Given the description of an element on the screen output the (x, y) to click on. 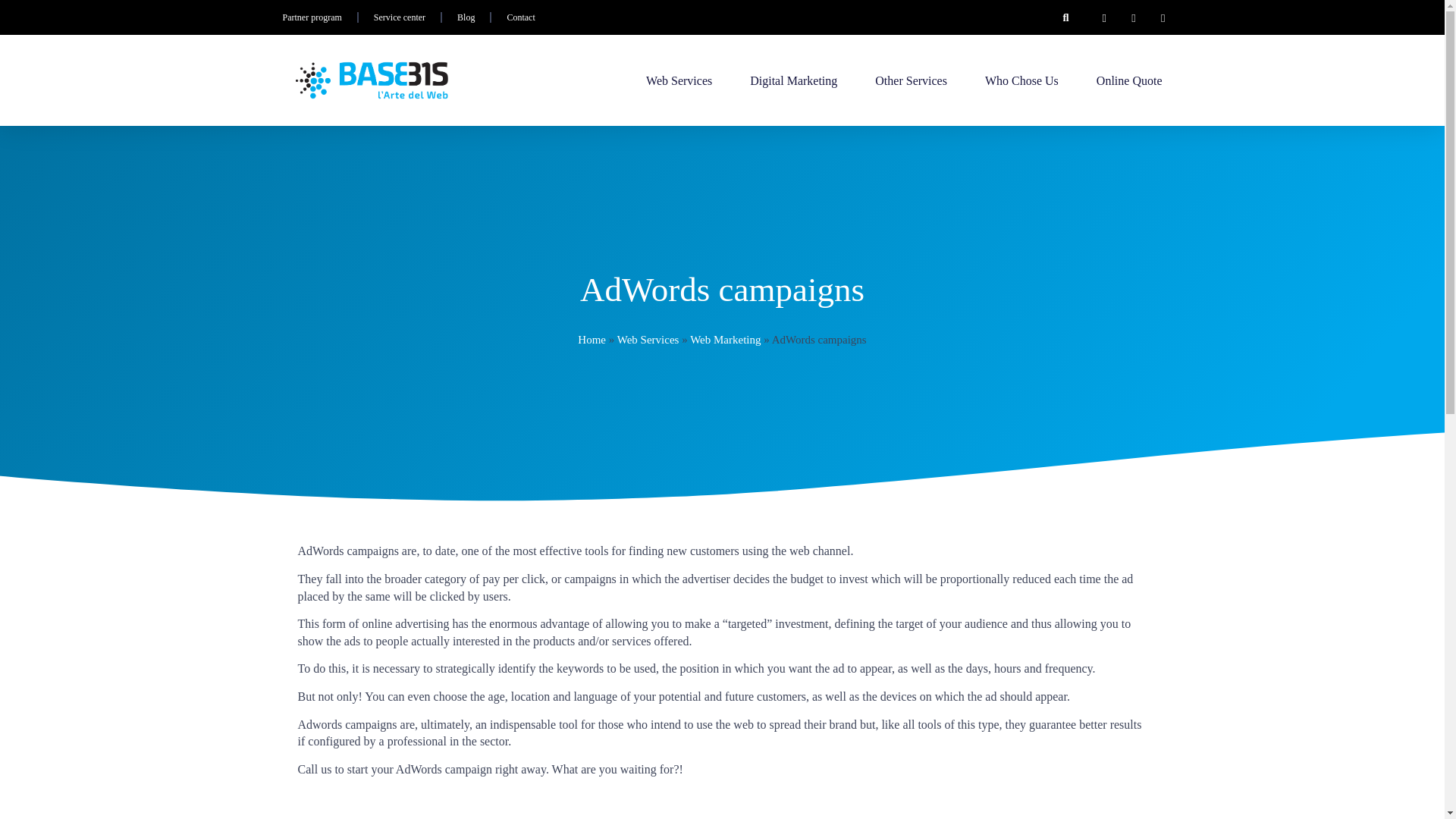
Web Services (678, 80)
Digital Marketing (793, 80)
Blog (465, 17)
Other Services (911, 80)
Contact (521, 17)
Service center (399, 17)
Online Quote (1128, 80)
Partner program (311, 17)
Who Chose Us (1021, 80)
